Given the description of an element on the screen output the (x, y) to click on. 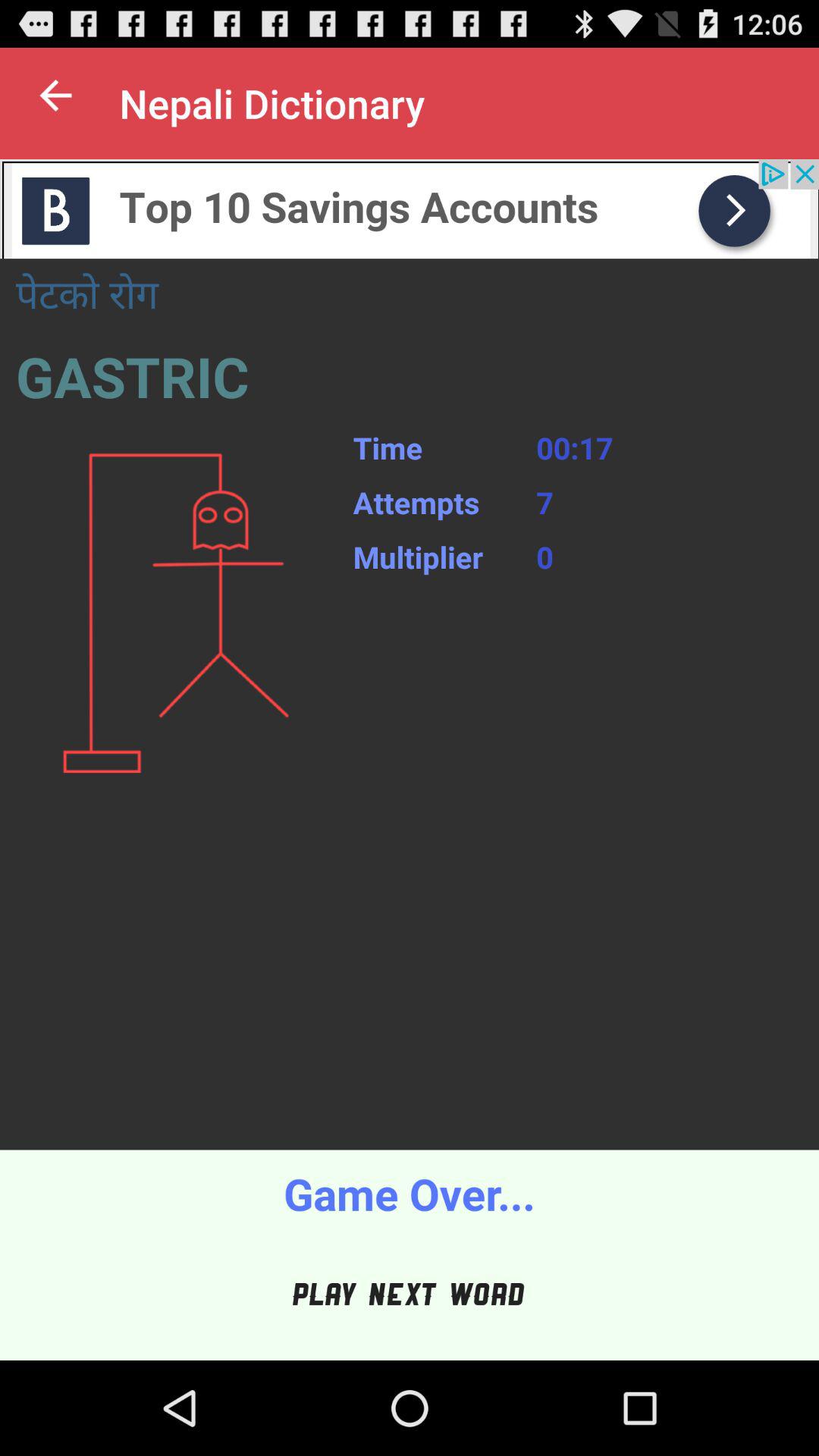
click play next word (409, 1293)
